Given the description of an element on the screen output the (x, y) to click on. 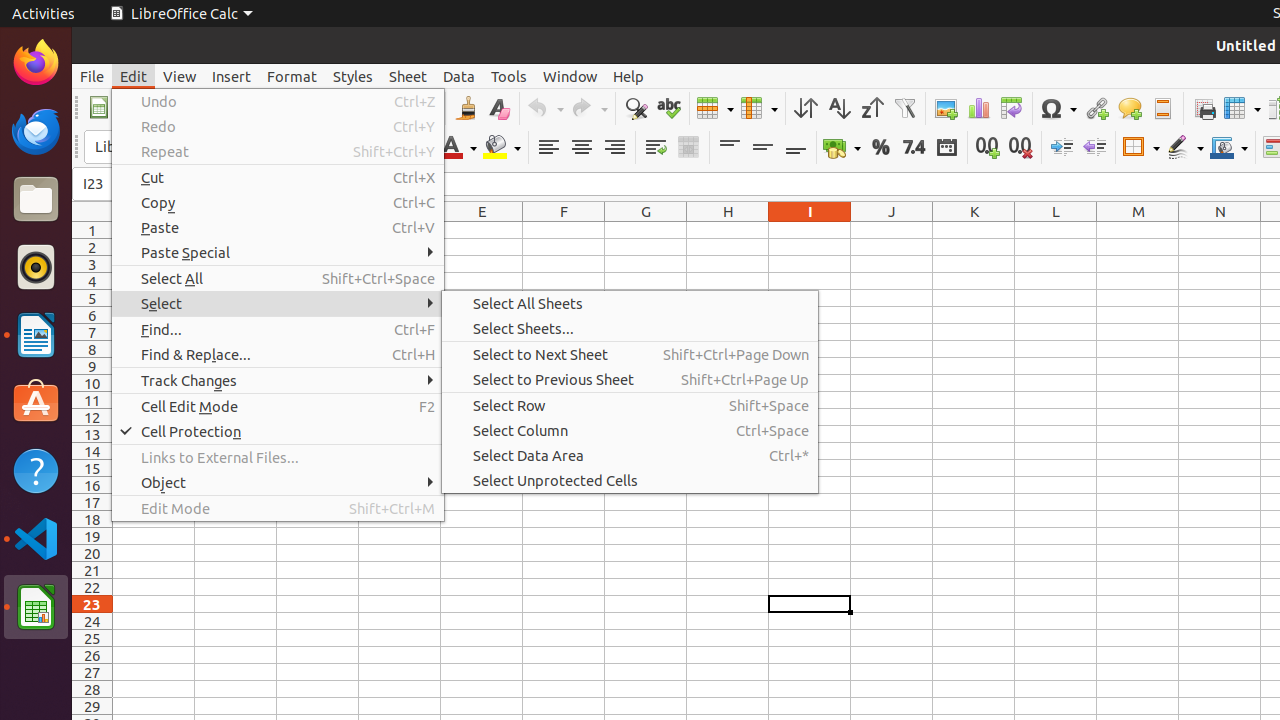
Select Sheets... Element type: menu-item (630, 328)
Format Element type: menu (292, 76)
Decrease Element type: push-button (1094, 147)
Background Color Element type: push-button (502, 147)
Select Data Area Element type: menu-item (630, 455)
